Given the description of an element on the screen output the (x, y) to click on. 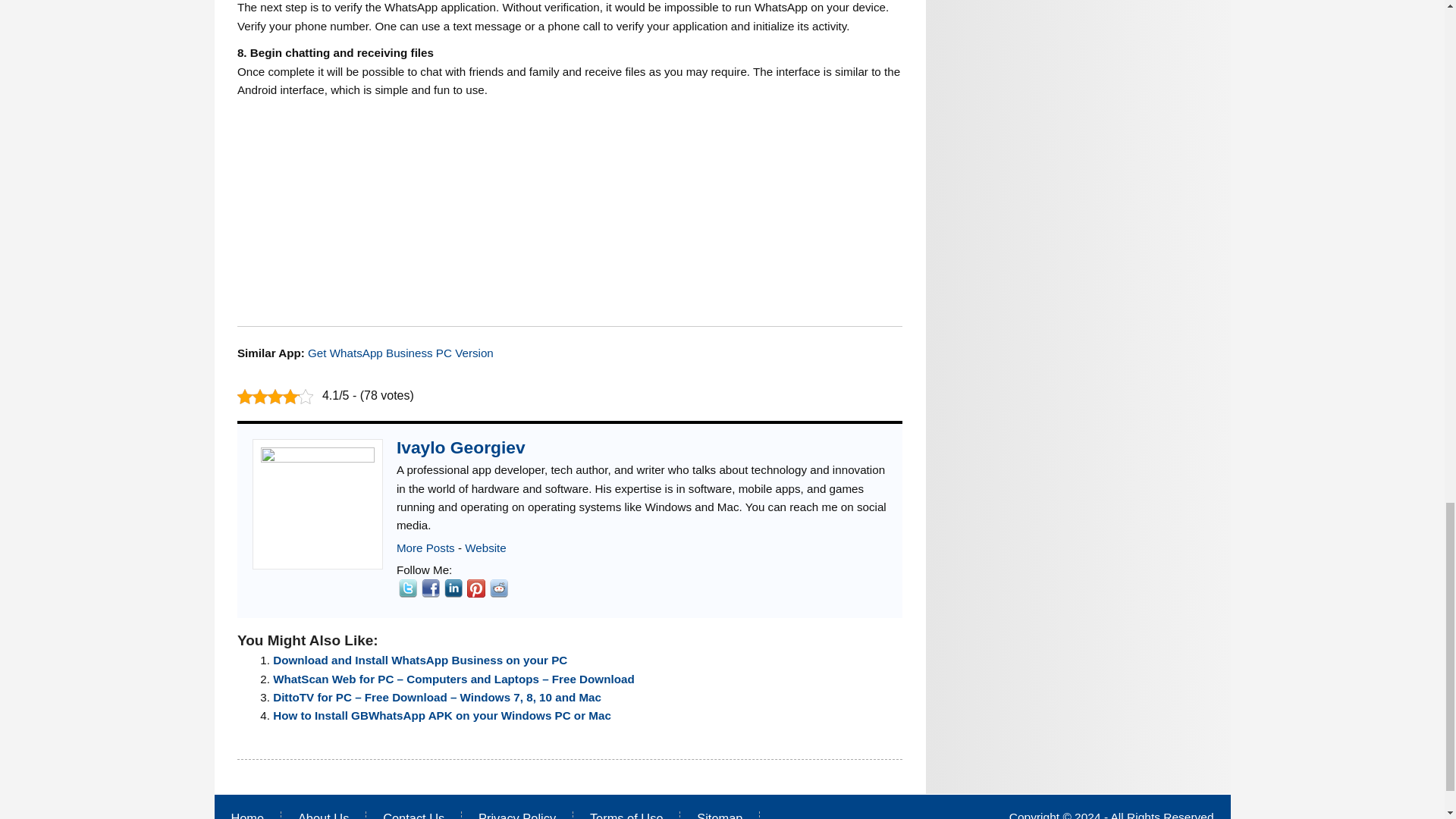
More posts by Ivaylo Georgiev (425, 547)
More Posts (425, 547)
Download and Install WhatsApp Business on your PC (420, 659)
Download and Install WhatsApp Business on your PC (420, 659)
Ivaylo Georgiev (485, 547)
Website (485, 547)
Ivaylo Georgiev (460, 447)
Get WhatsApp Business PC Version (400, 352)
How to Install GBWhatsApp APK on your Windows PC or Mac (442, 715)
How to Install GBWhatsApp APK on your Windows PC or Mac (442, 715)
Ivaylo Georgiev (460, 447)
